Given the description of an element on the screen output the (x, y) to click on. 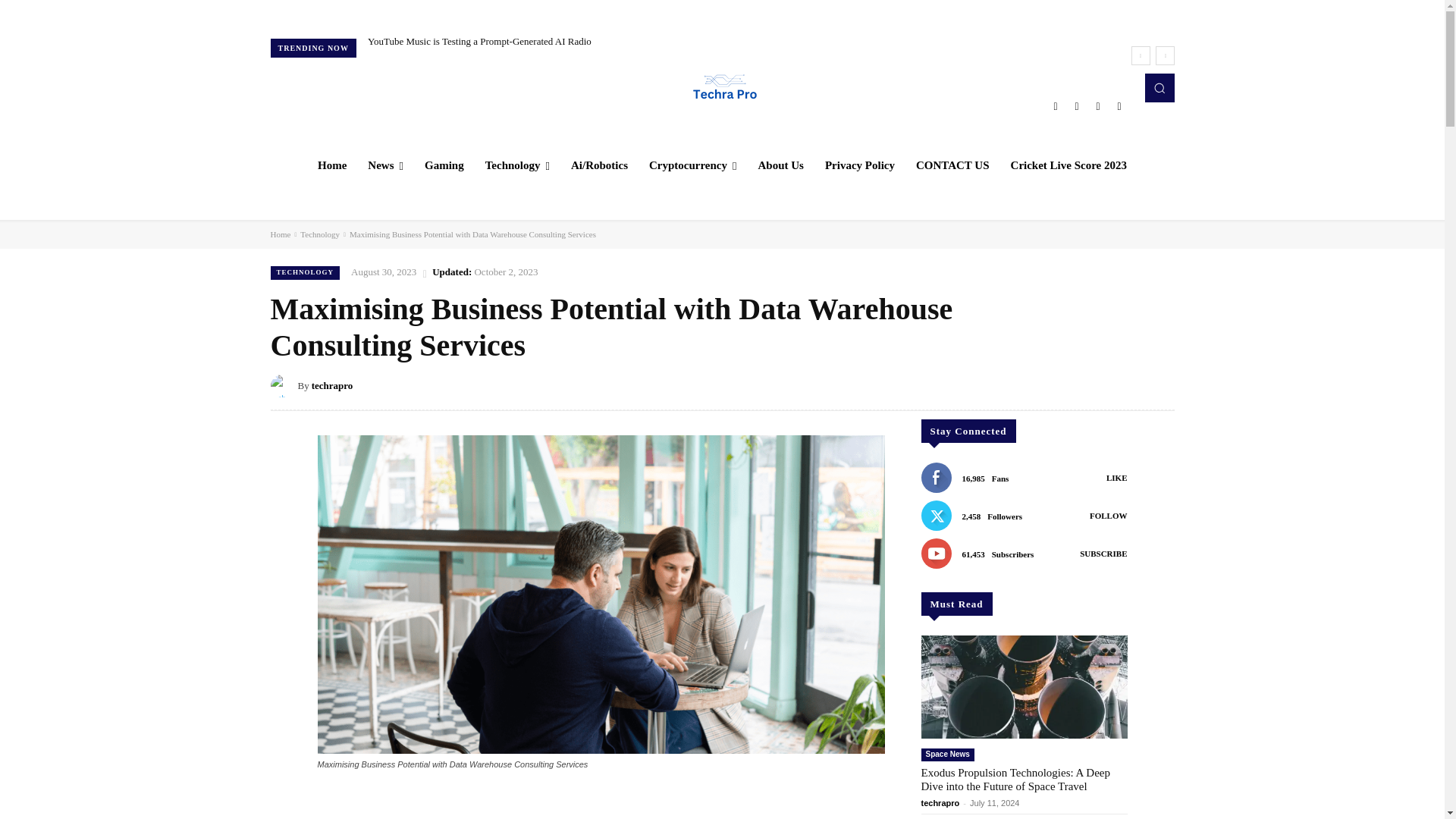
YouTube Music is Testing a Prompt-Generated AI Radio (479, 41)
Twitter (1097, 106)
Instagram (1076, 106)
YouTube Music is Testing a Prompt-Generated AI Radio (479, 41)
Facebook (1055, 106)
